Given the description of an element on the screen output the (x, y) to click on. 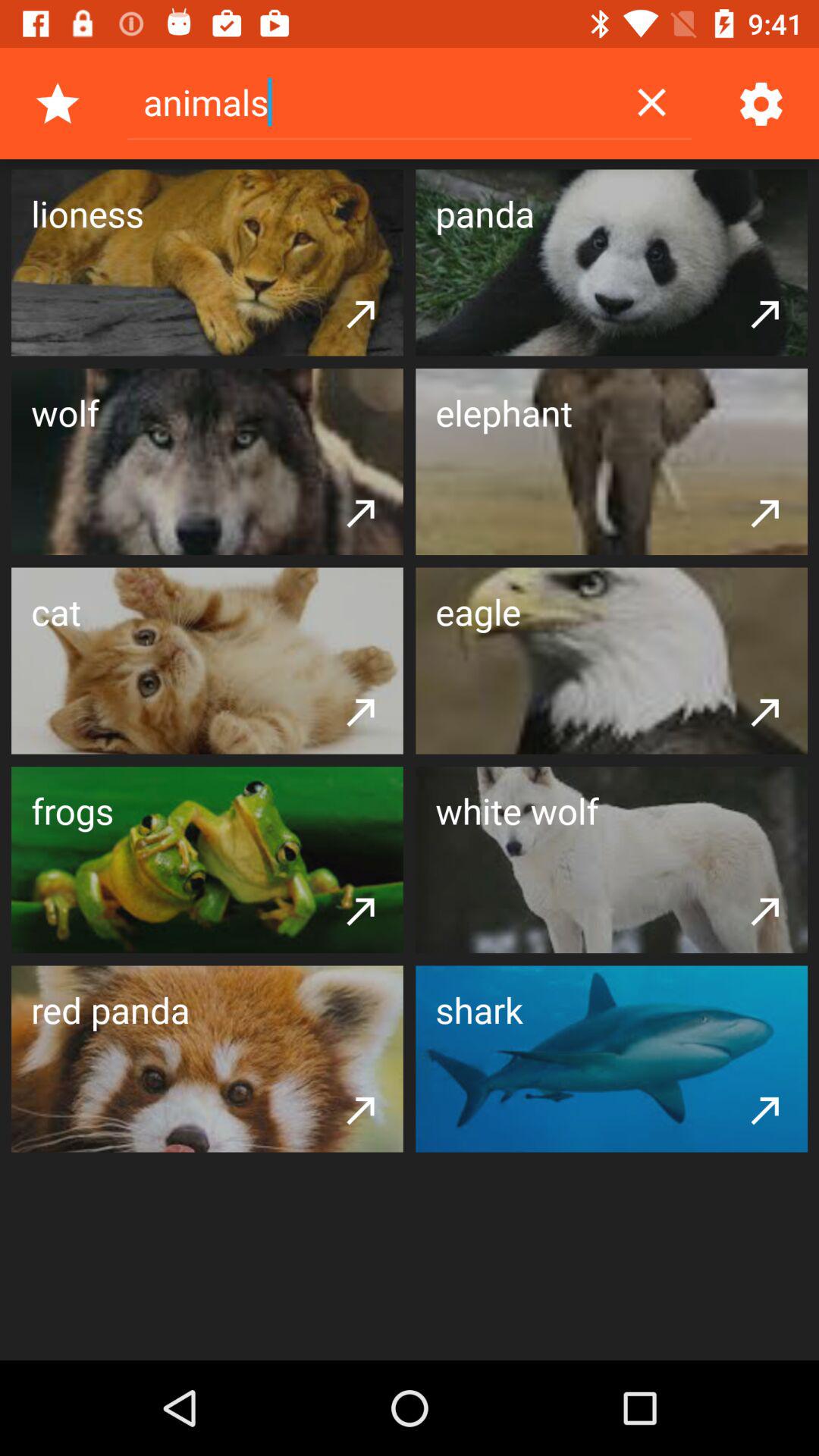
turn off item below the wolf item (361, 512)
